Given the description of an element on the screen output the (x, y) to click on. 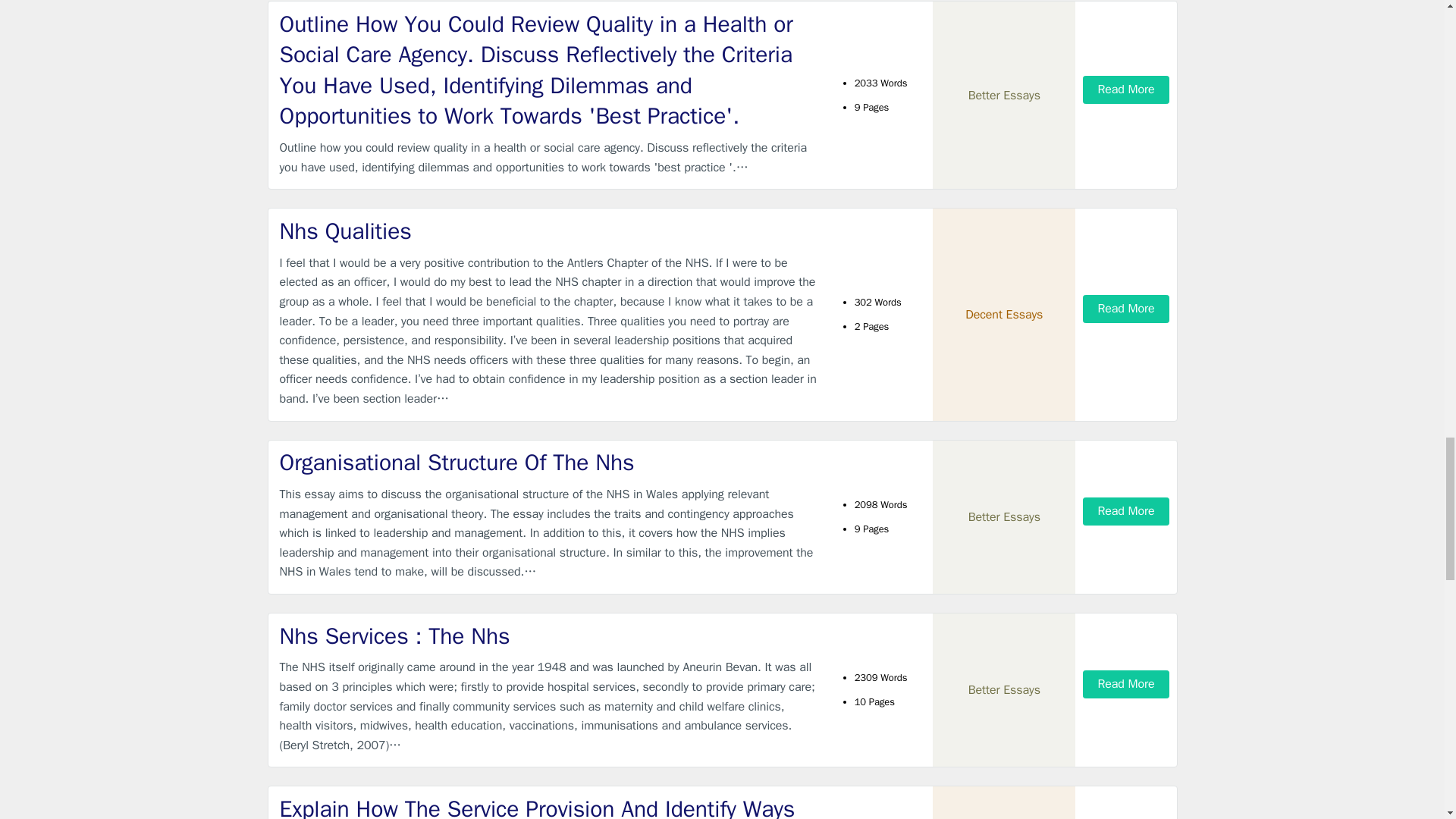
Read More (1126, 90)
